Given the description of an element on the screen output the (x, y) to click on. 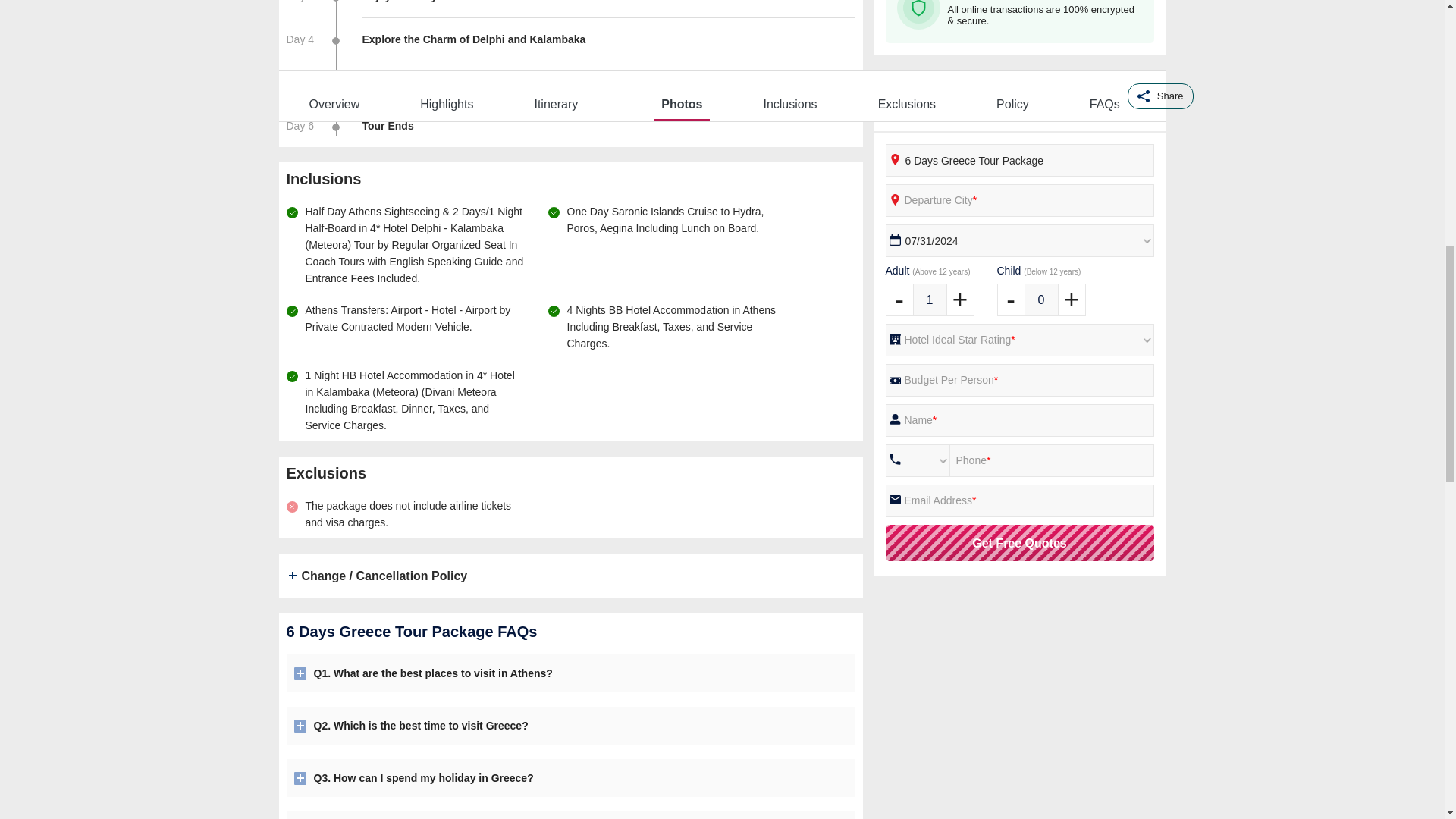
0 (1040, 299)
1 (929, 299)
6 Days Greece Tour Package (1019, 160)
